Given the description of an element on the screen output the (x, y) to click on. 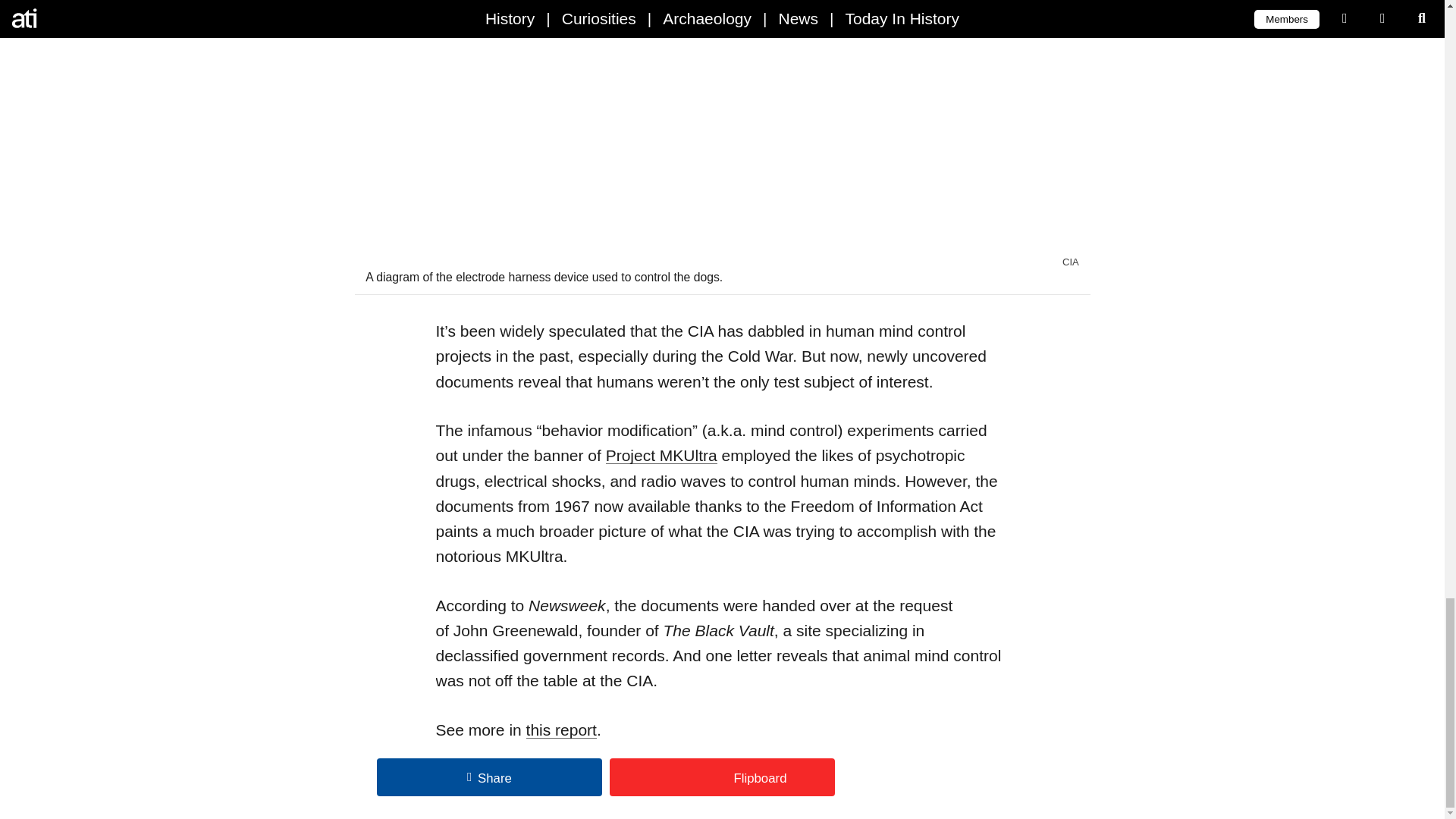
Share (489, 777)
this report (560, 729)
Project MKUltra (661, 455)
Flipboard (722, 777)
